Given the description of an element on the screen output the (x, y) to click on. 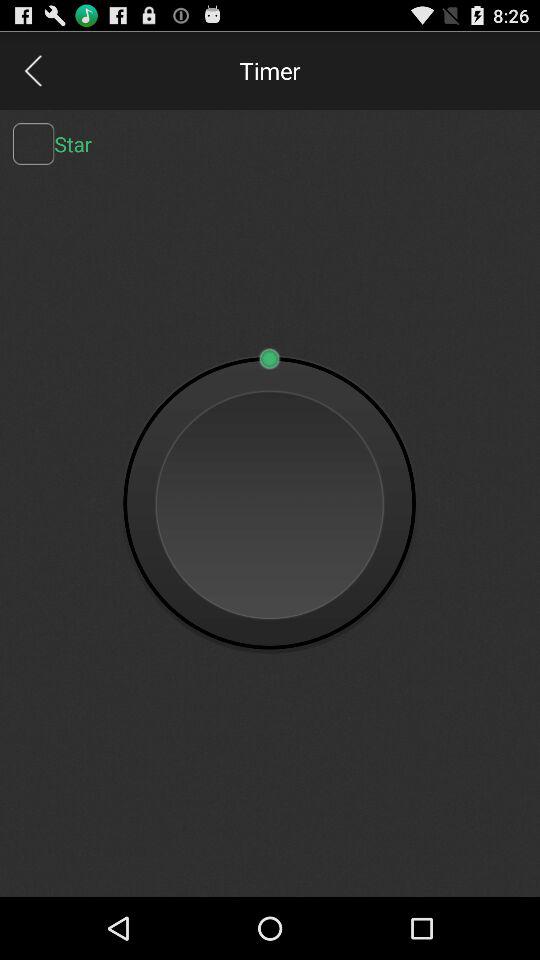
back page (32, 70)
